Given the description of an element on the screen output the (x, y) to click on. 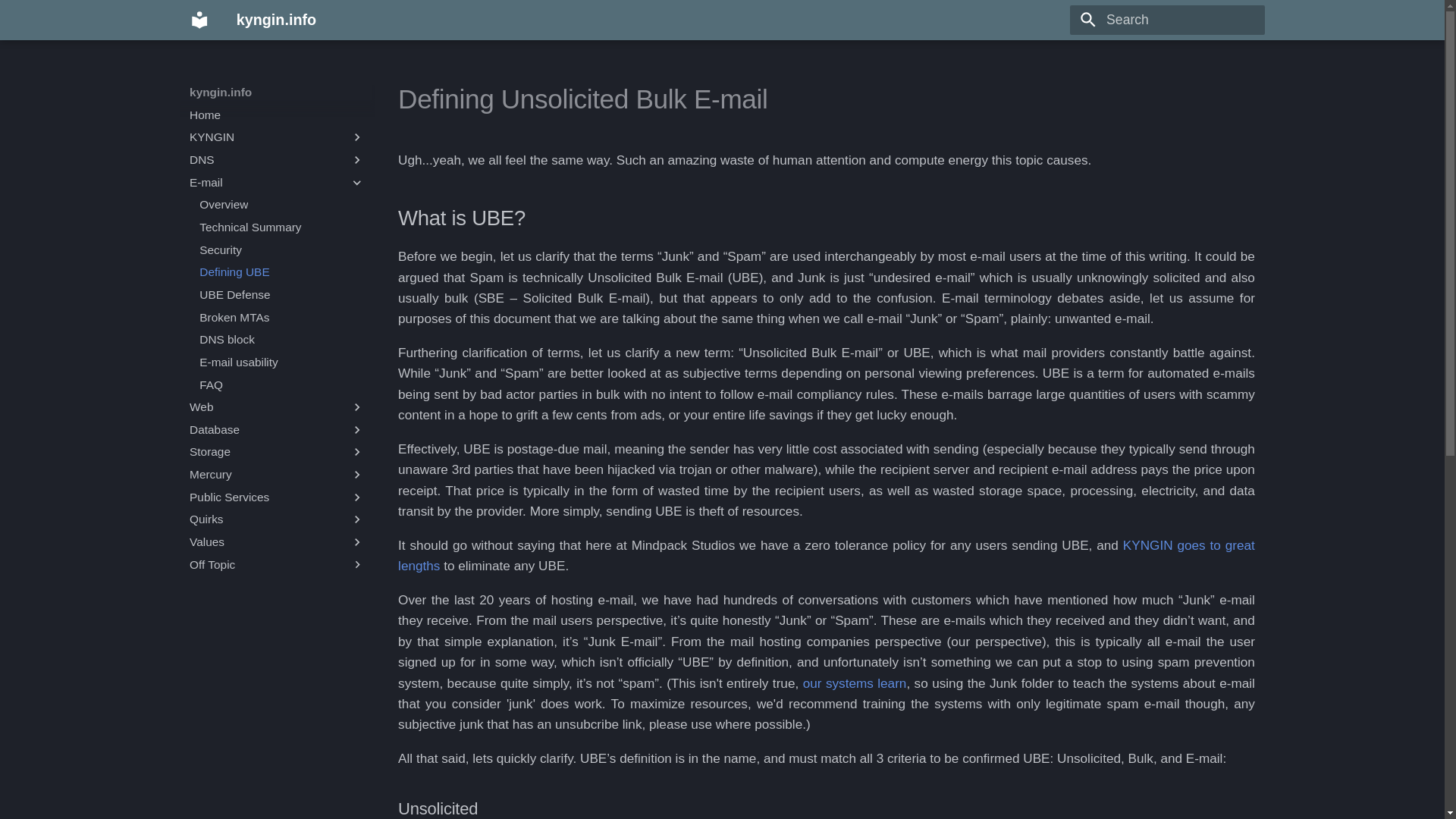
kyngin.info (199, 19)
Technical Summary (282, 227)
UBE Defense (282, 294)
Security (282, 249)
Home (277, 114)
Defining UBE (282, 272)
Broken MTAs (282, 317)
Overview (282, 204)
FAQ (282, 385)
DNS block (282, 339)
E-mail usability (282, 362)
